Given the description of an element on the screen output the (x, y) to click on. 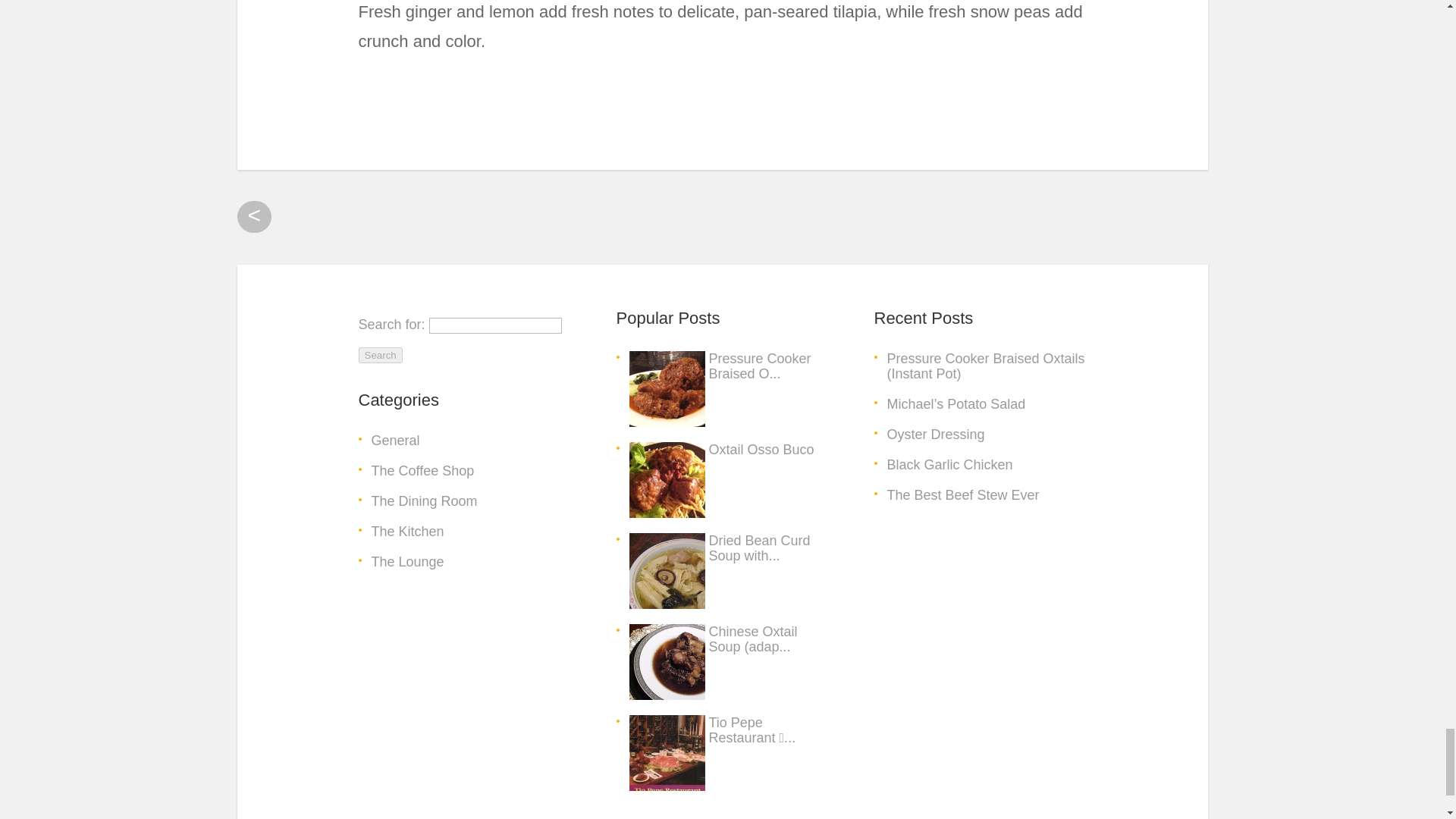
Search (379, 355)
"You Are Always Alone in The Kitchen" (407, 531)
Somewhere on this earth, it's cocktail hour! (407, 561)
